Given the description of an element on the screen output the (x, y) to click on. 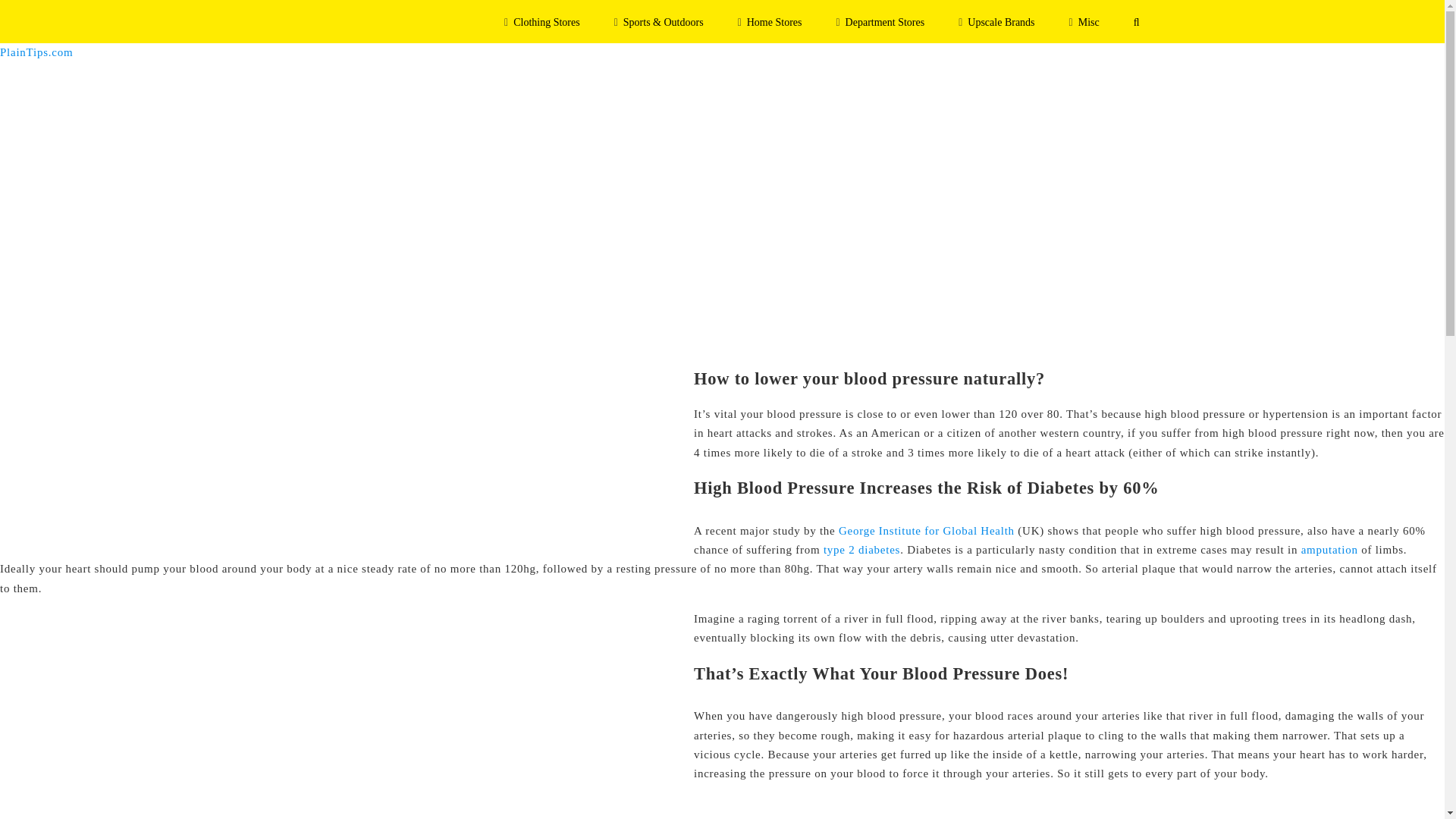
Clothing Stores (541, 21)
